Given the description of an element on the screen output the (x, y) to click on. 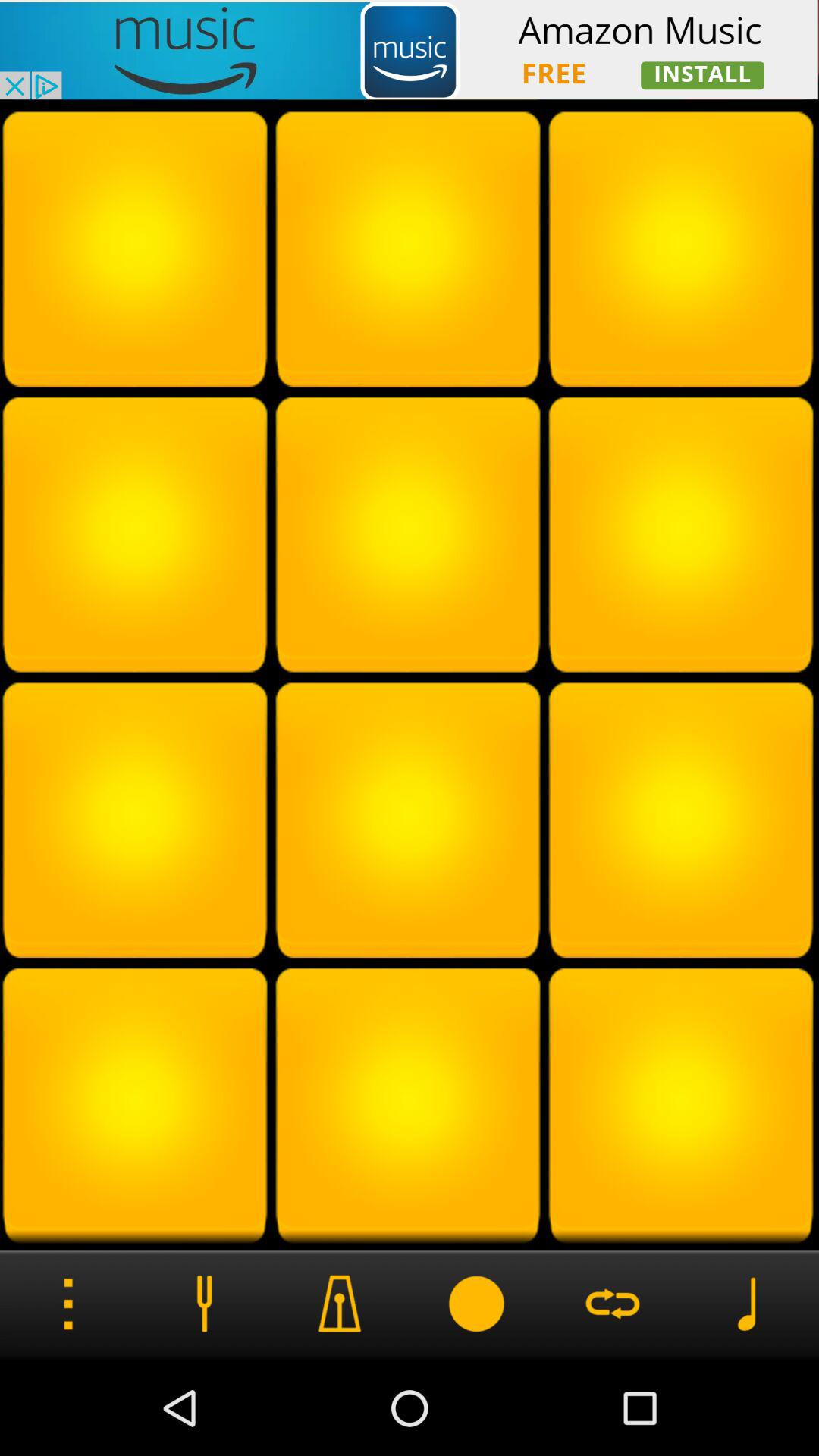
install app (409, 49)
